Given the description of an element on the screen output the (x, y) to click on. 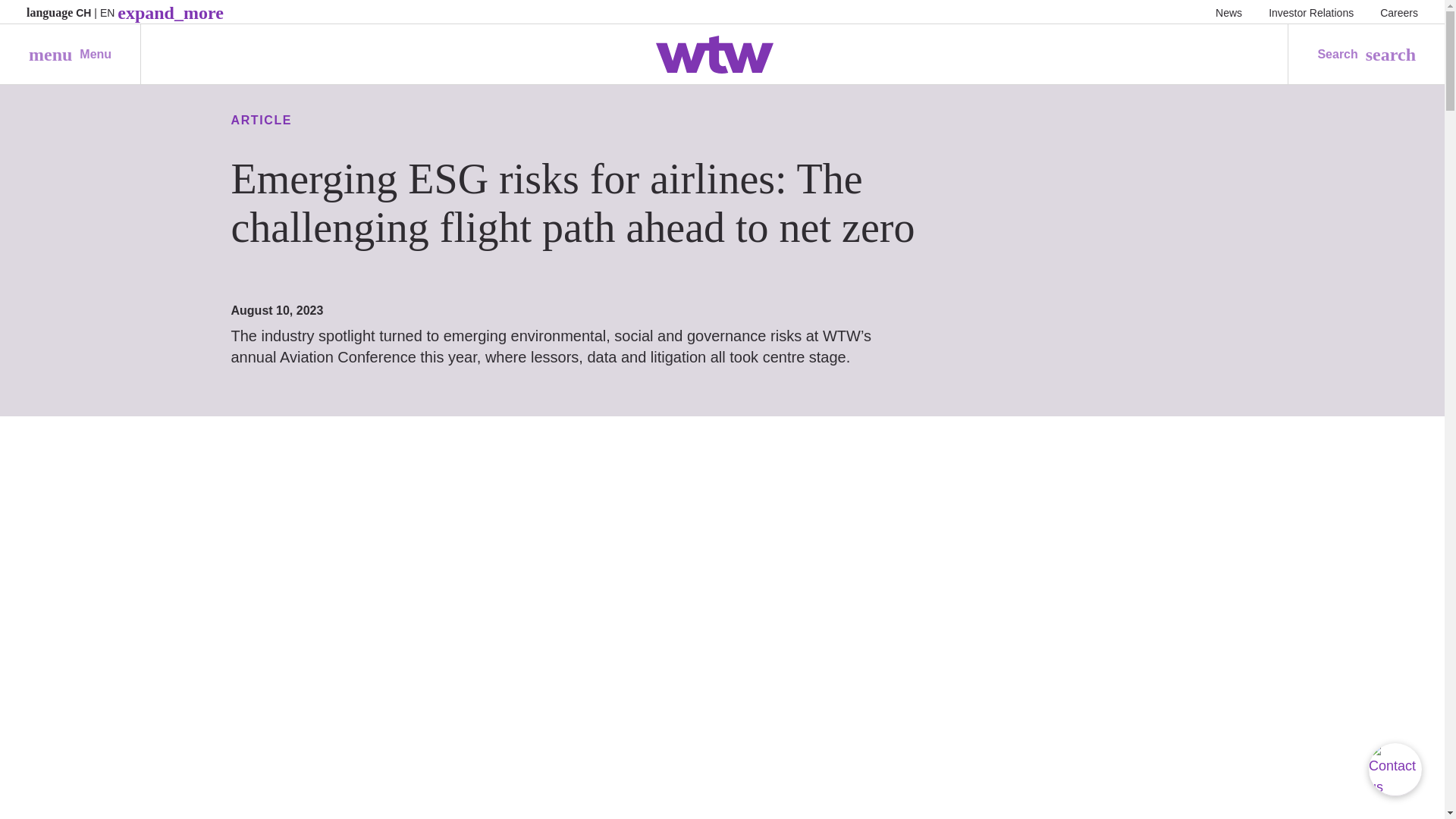
Careers (1399, 12)
News (1228, 12)
Investor Relations (1311, 12)
